Given the description of an element on the screen output the (x, y) to click on. 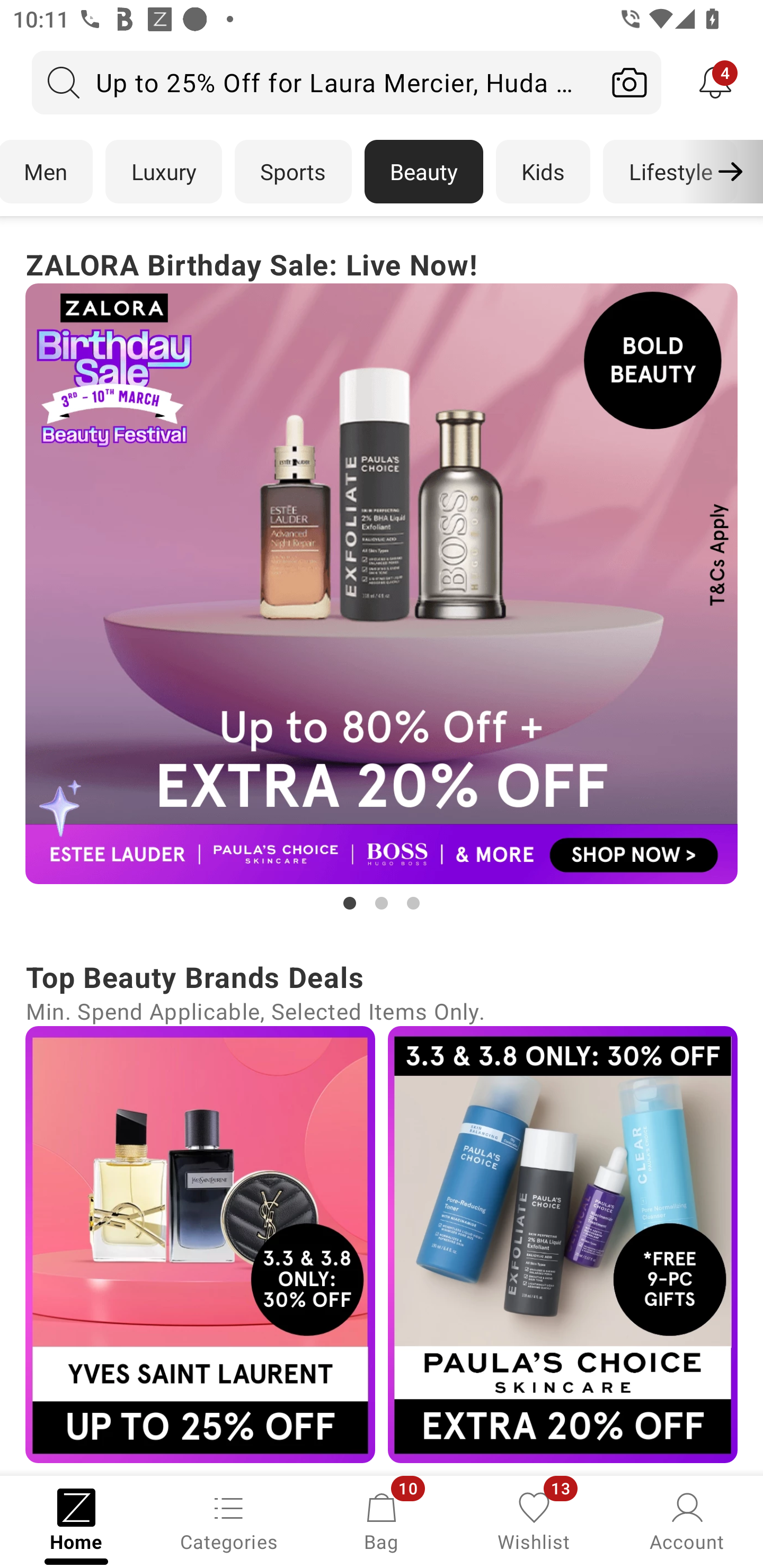
Men (46, 171)
Luxury (163, 171)
Sports (293, 171)
Beauty (423, 171)
Kids (542, 171)
Lifestyle (669, 171)
ZALORA Birthday Sale: Live Now!  Campaign banner (381, 578)
Campaign banner (381, 583)
Campaign banner (200, 1243)
Campaign banner (562, 1243)
Categories (228, 1519)
Bag, 10 new notifications Bag (381, 1519)
Wishlist, 13 new notifications Wishlist (533, 1519)
Account (686, 1519)
